Given the description of an element on the screen output the (x, y) to click on. 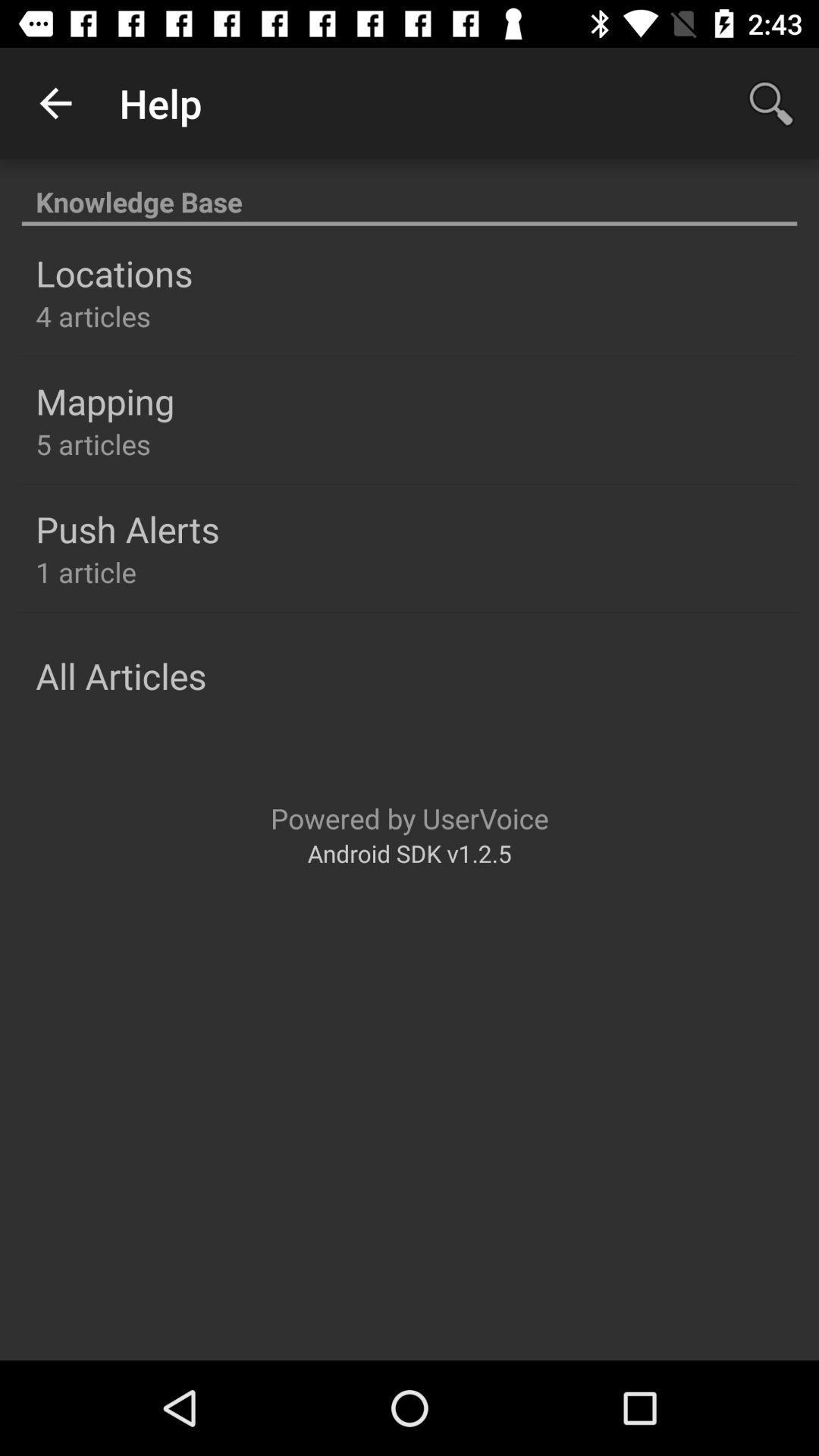
press the all articles icon (120, 675)
